Given the description of an element on the screen output the (x, y) to click on. 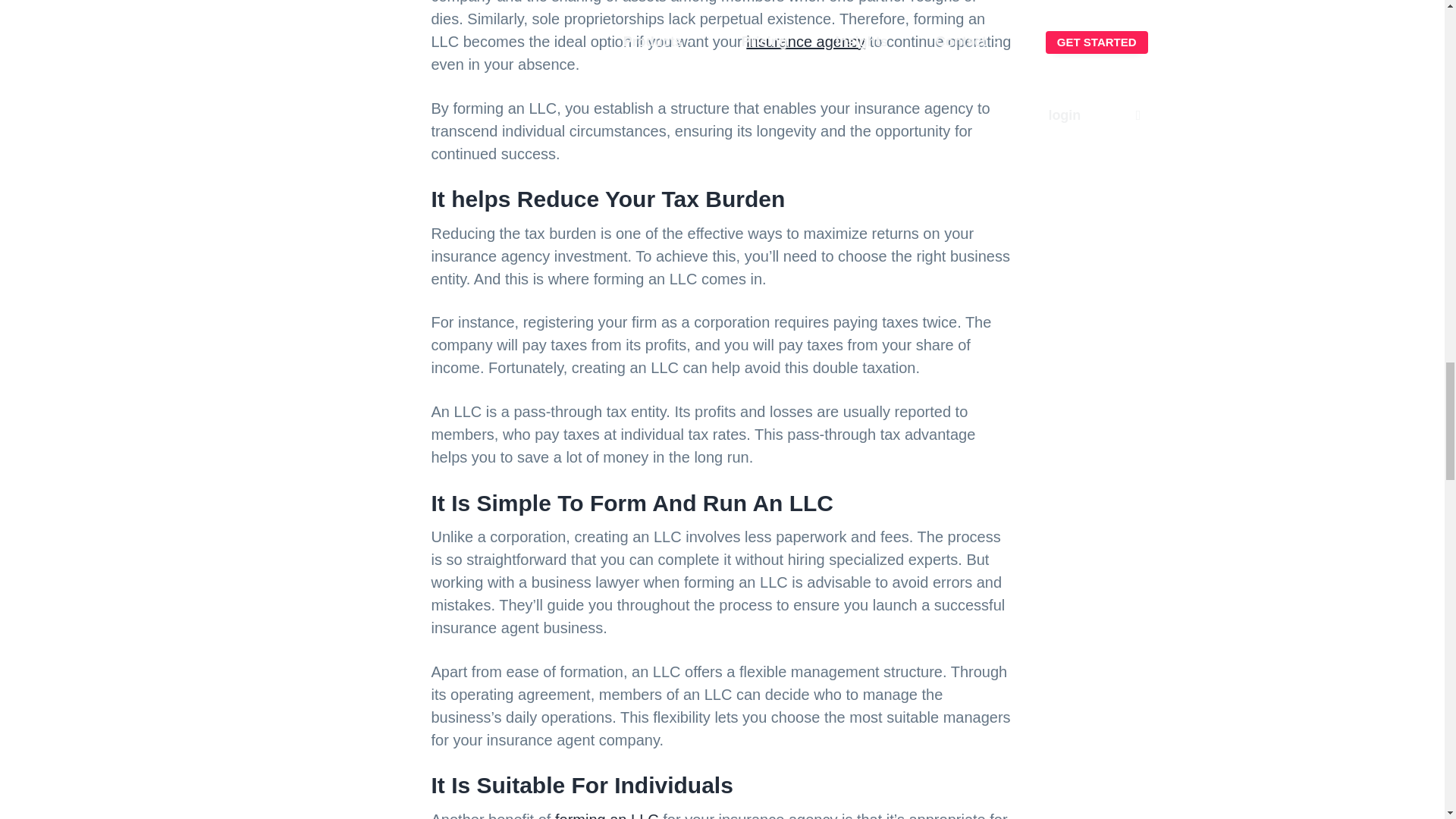
forming an LLC (606, 815)
insurance agency (804, 41)
